Given the description of an element on the screen output the (x, y) to click on. 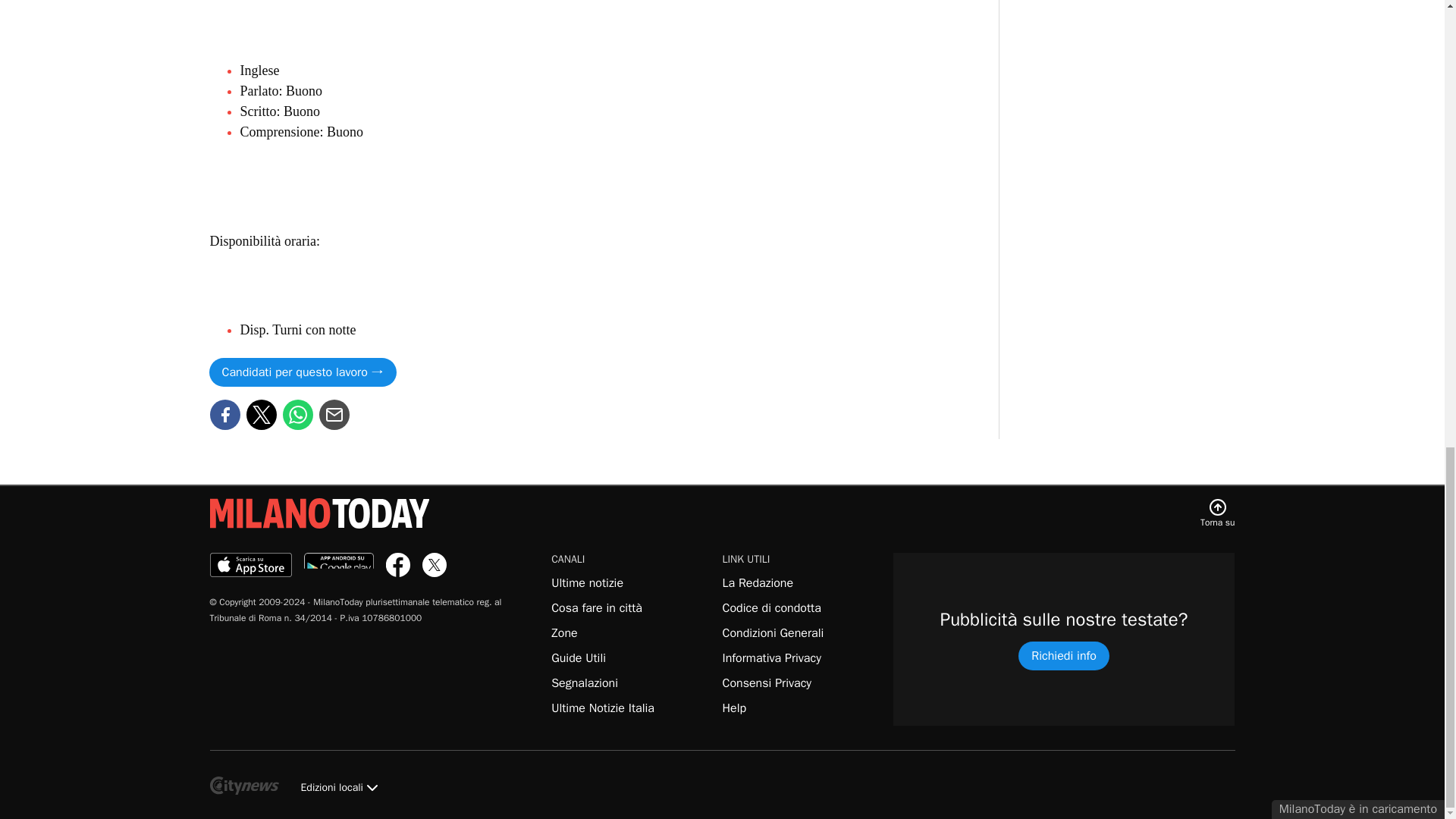
Ultime notizie (587, 582)
Ultime Notizie Italia (602, 708)
Zone (564, 632)
Facebook (223, 414)
Ultime notizie (602, 708)
Codice di condotta (771, 607)
eventi Milano (596, 607)
Twitter (260, 414)
Torna su (1216, 512)
La Redazione (757, 582)
